Given the description of an element on the screen output the (x, y) to click on. 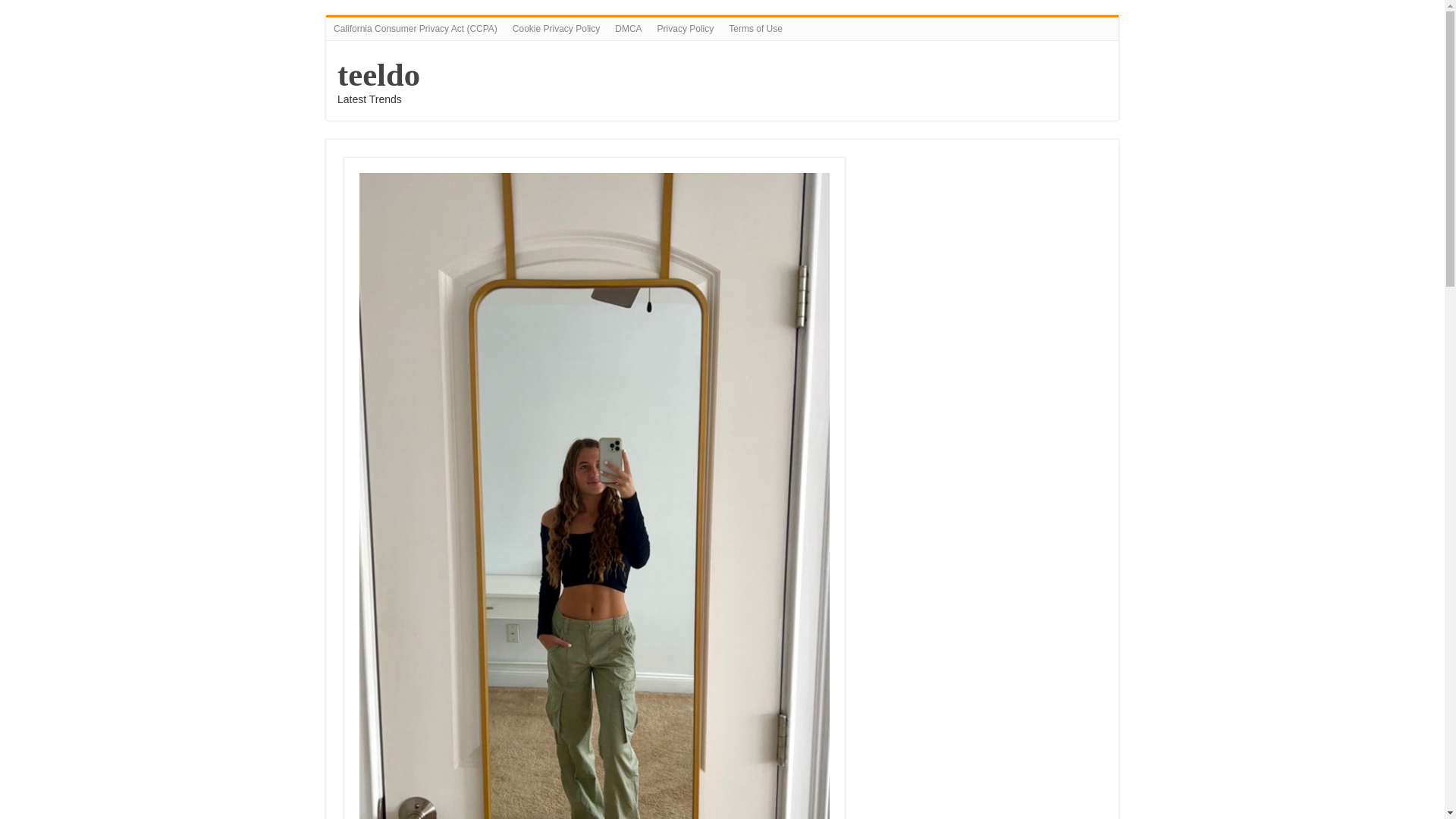
DMCA (628, 28)
Cookie Privacy Policy (556, 28)
Privacy Policy (685, 28)
Terms of Use (755, 28)
teeldo (378, 74)
